Given the description of an element on the screen output the (x, y) to click on. 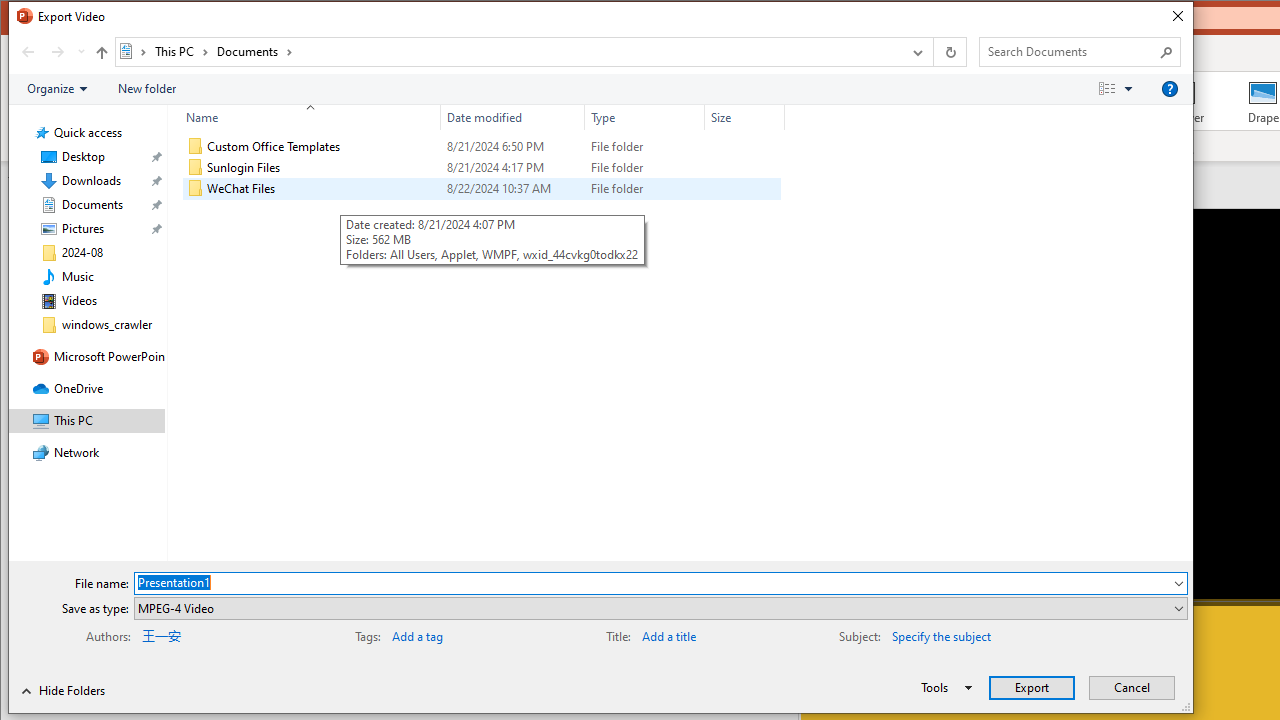
Up band toolbar (101, 55)
Name (322, 188)
Views (1120, 89)
Documents (254, 51)
Address band toolbar (932, 51)
This PC (181, 51)
New folder (146, 89)
All locations (133, 51)
Size (744, 188)
Date modified (512, 117)
Class: UIImage (195, 188)
Size (744, 117)
Recent locations (80, 51)
Subject (1037, 634)
